Given the description of an element on the screen output the (x, y) to click on. 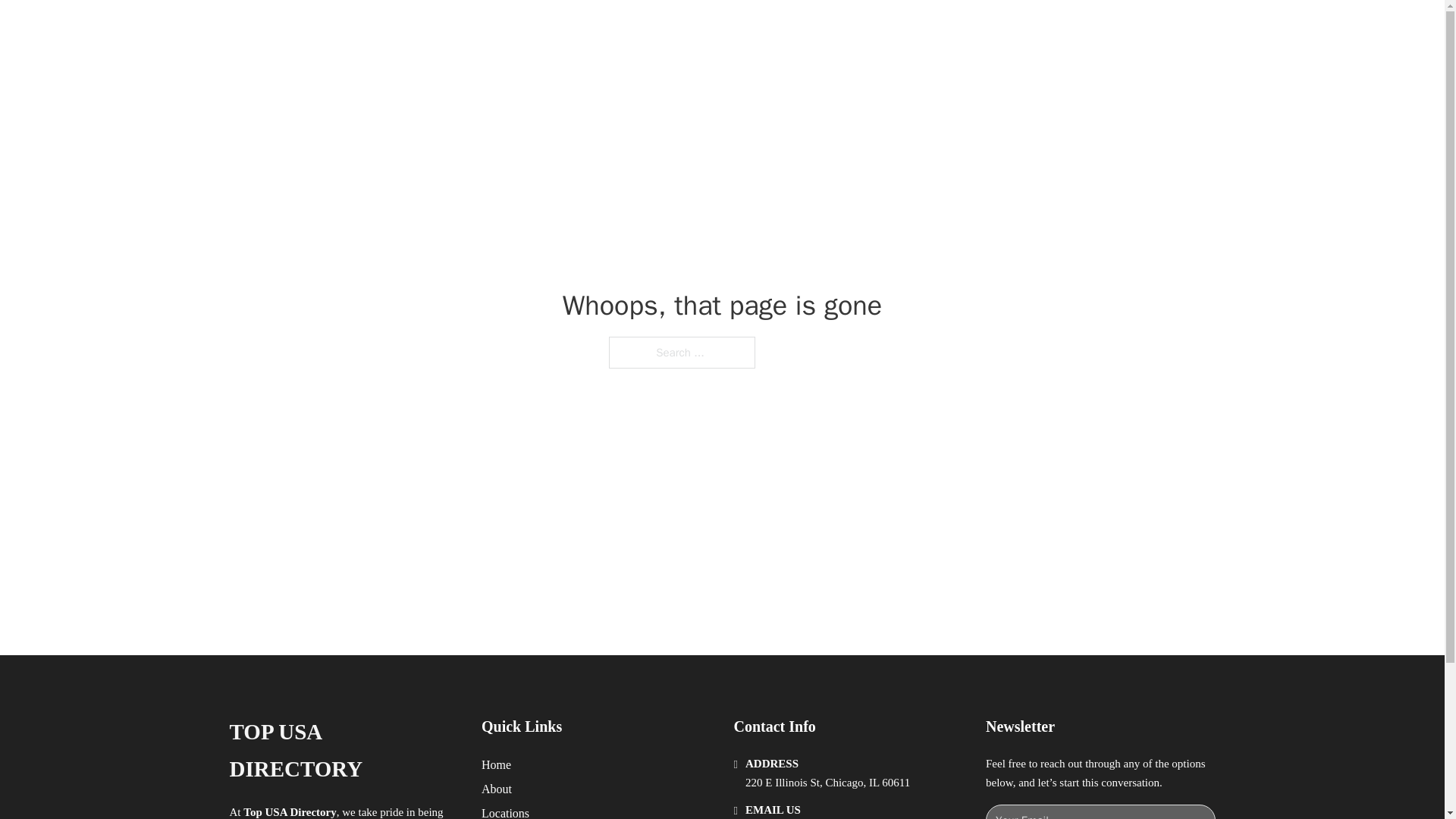
TOP USA DIRECTORY (414, 28)
Locations (505, 811)
HOME (919, 29)
About (496, 788)
Home (496, 764)
TOP USA DIRECTORY (343, 750)
LOCATIONS (990, 29)
